Given the description of an element on the screen output the (x, y) to click on. 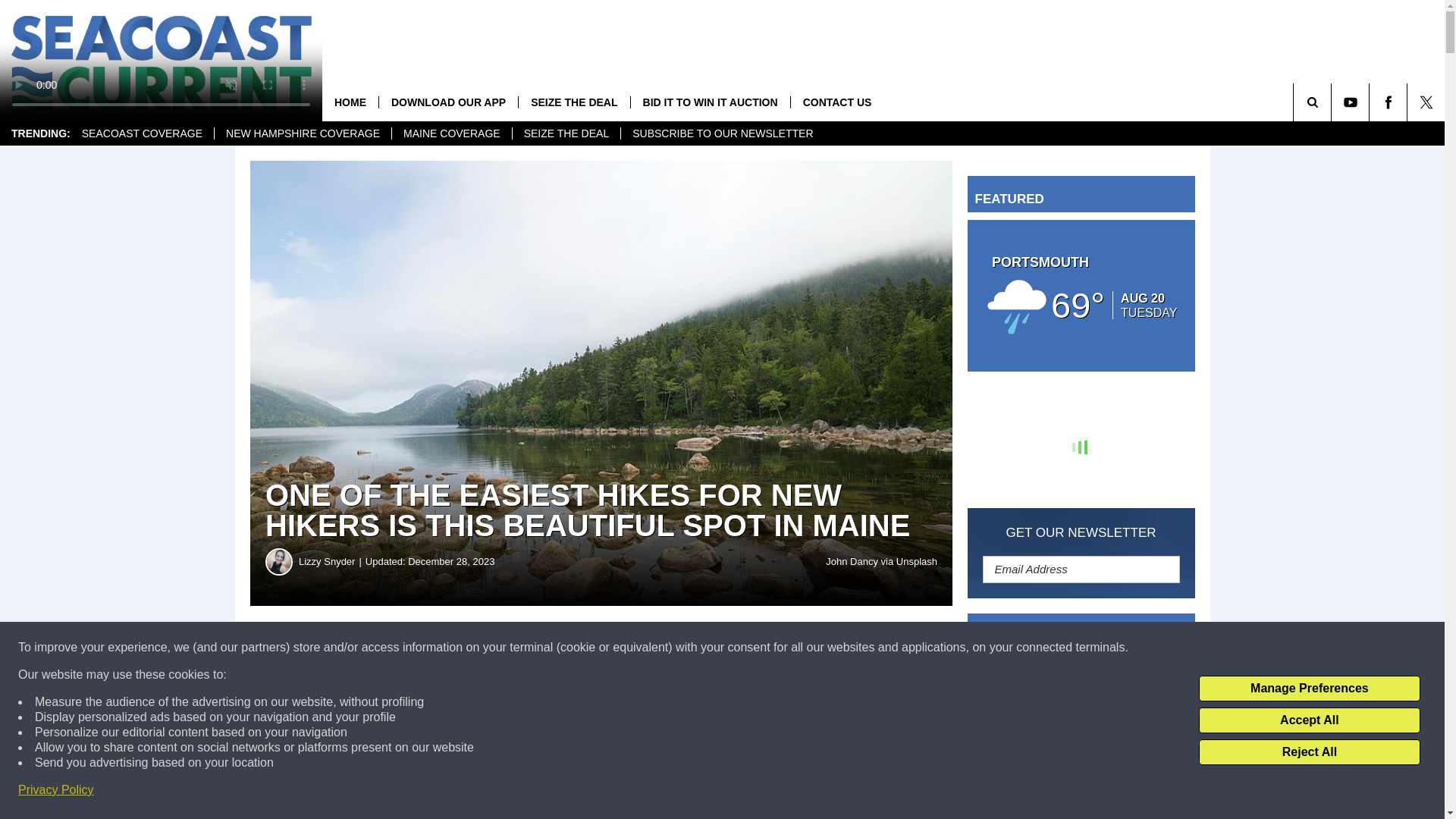
BID IT TO WIN IT AUCTION (710, 102)
Visit us on Youtube (1350, 102)
Email Address (1080, 568)
SEACOAST COVERAGE (141, 133)
SEARCH (1333, 102)
Share on Facebook (460, 647)
Manage Preferences (1309, 688)
MAINE COVERAGE (451, 133)
Visit us on Facebook (1388, 102)
CONTACT US (836, 102)
